Given the description of an element on the screen output the (x, y) to click on. 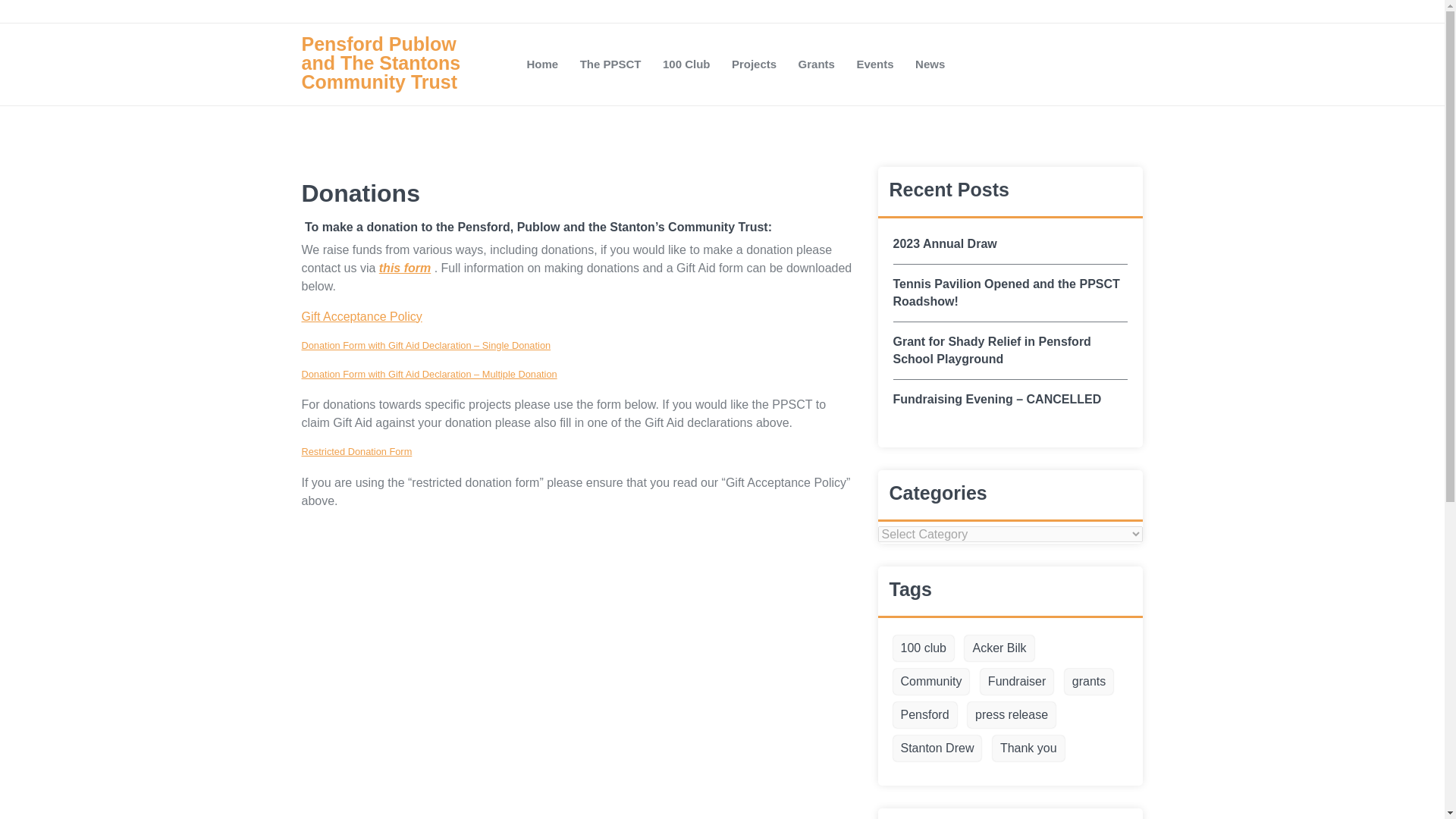
100 club (924, 647)
100 Club (686, 64)
Thank you (1028, 748)
Fundraiser (1015, 681)
Projects (754, 64)
Gift Acceptance Policy (361, 316)
Grant for Shady Relief in Pensford School Playground (1010, 350)
Events (874, 64)
Grants (816, 64)
Tennis Pavilion Opened and the PPSCT Roadshow! (1010, 293)
